Given the description of an element on the screen output the (x, y) to click on. 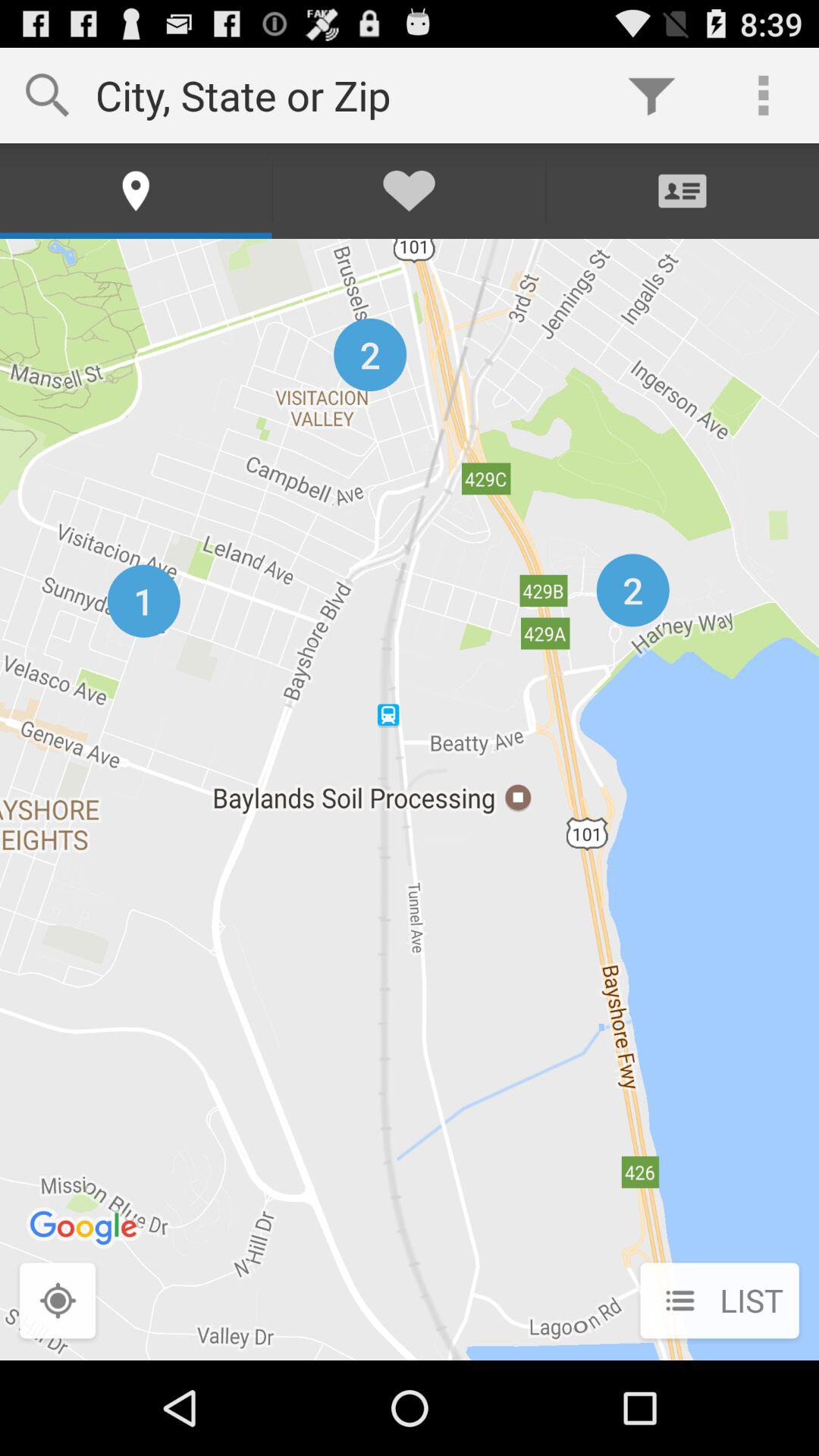
select the item to the left of the list button (57, 1302)
